Given the description of an element on the screen output the (x, y) to click on. 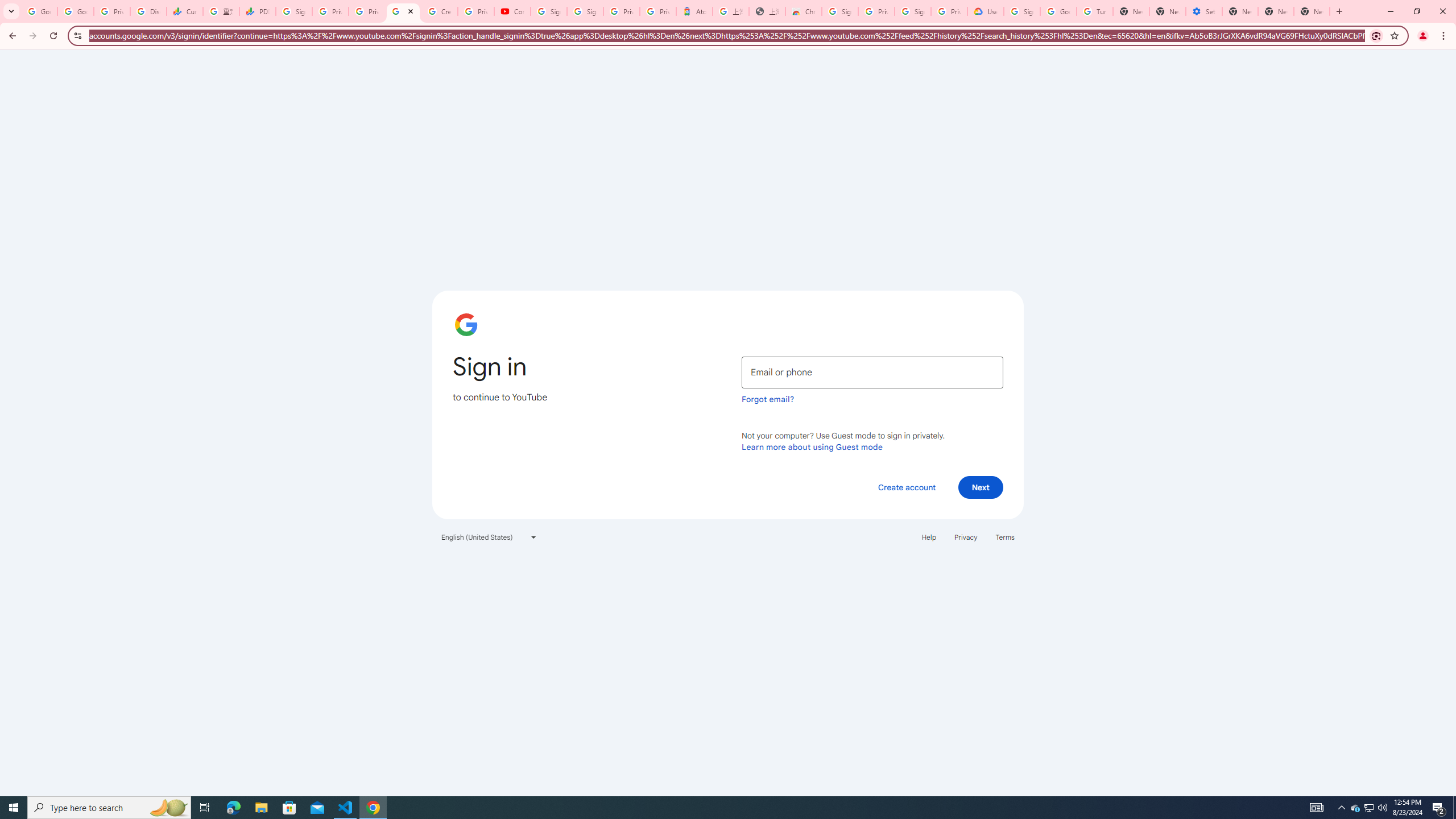
Google Workspace Admin Community (39, 11)
Email or phone (872, 372)
Chrome Web Store - Color themes by Chrome (803, 11)
Learn more about using Guest mode (812, 446)
Create your Google Account (439, 11)
Google Account Help (1058, 11)
Privacy Checkup (366, 11)
